Given the description of an element on the screen output the (x, y) to click on. 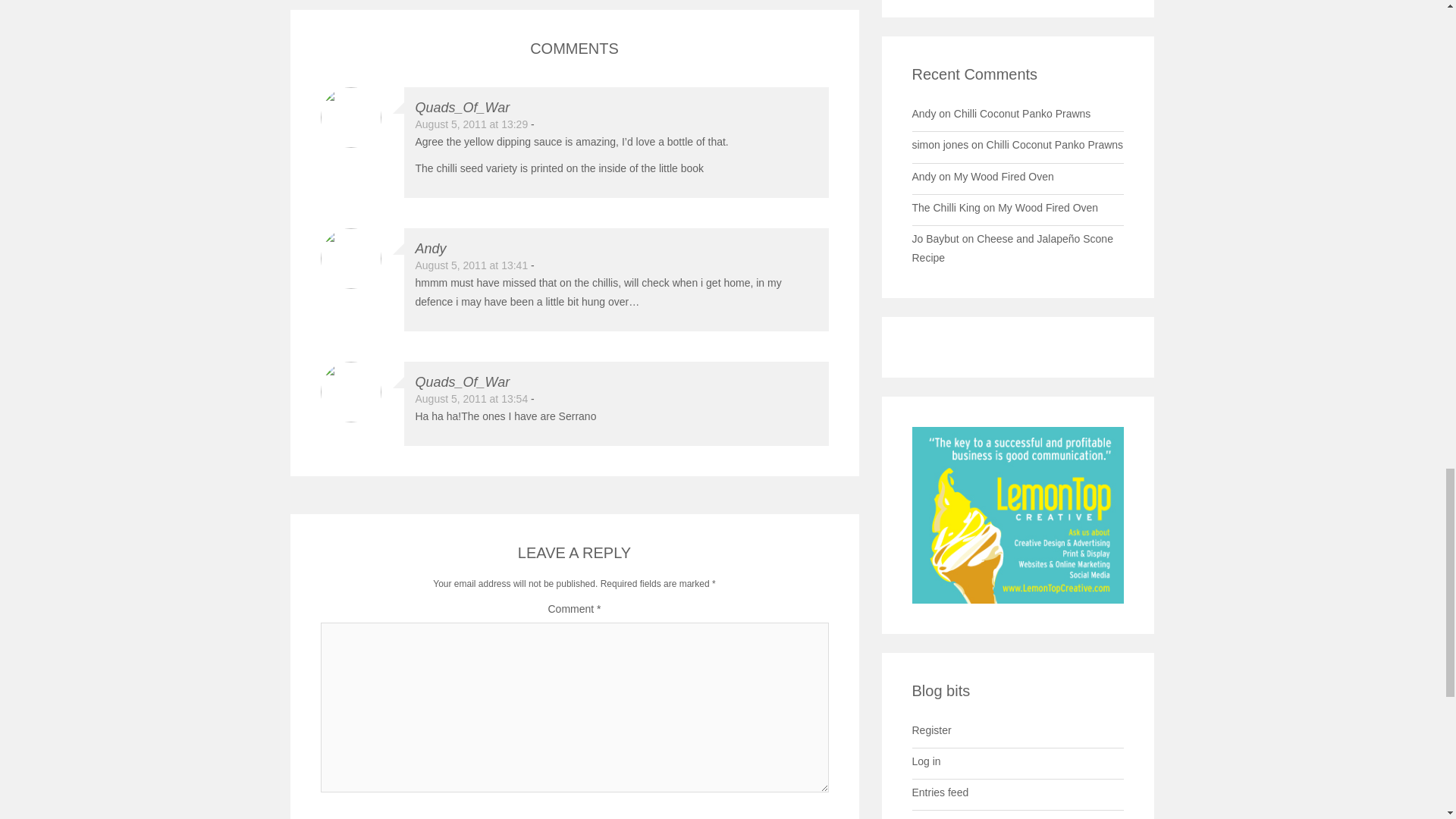
August 5, 2011 at 13:29 (471, 123)
Web design darlington (1017, 513)
August 5, 2011 at 13:41 (471, 265)
August 5, 2011 at 13:54 (471, 398)
